Given the description of an element on the screen output the (x, y) to click on. 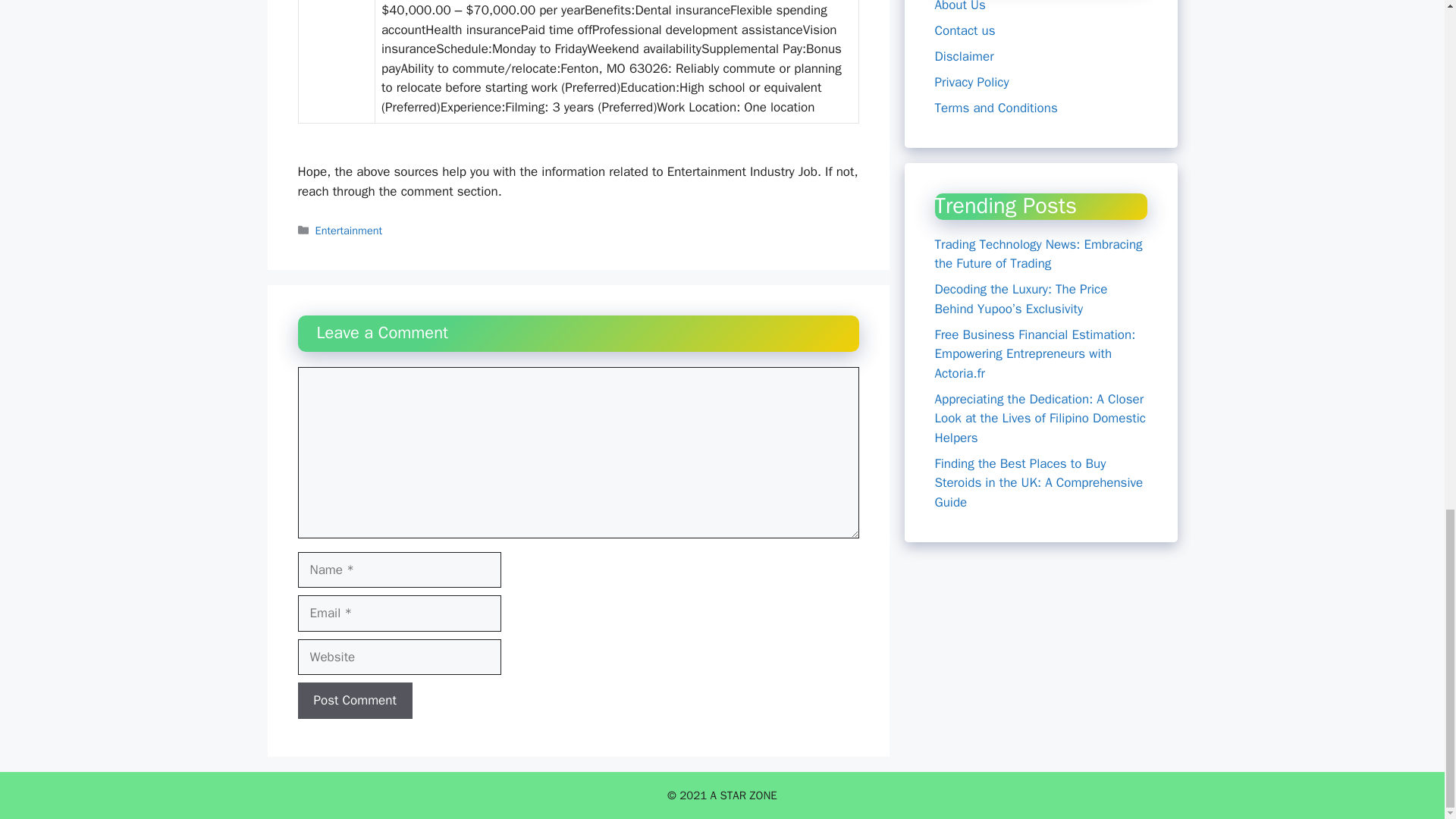
Post Comment (354, 700)
Post Comment (354, 700)
Entertainment (348, 230)
